Given the description of an element on the screen output the (x, y) to click on. 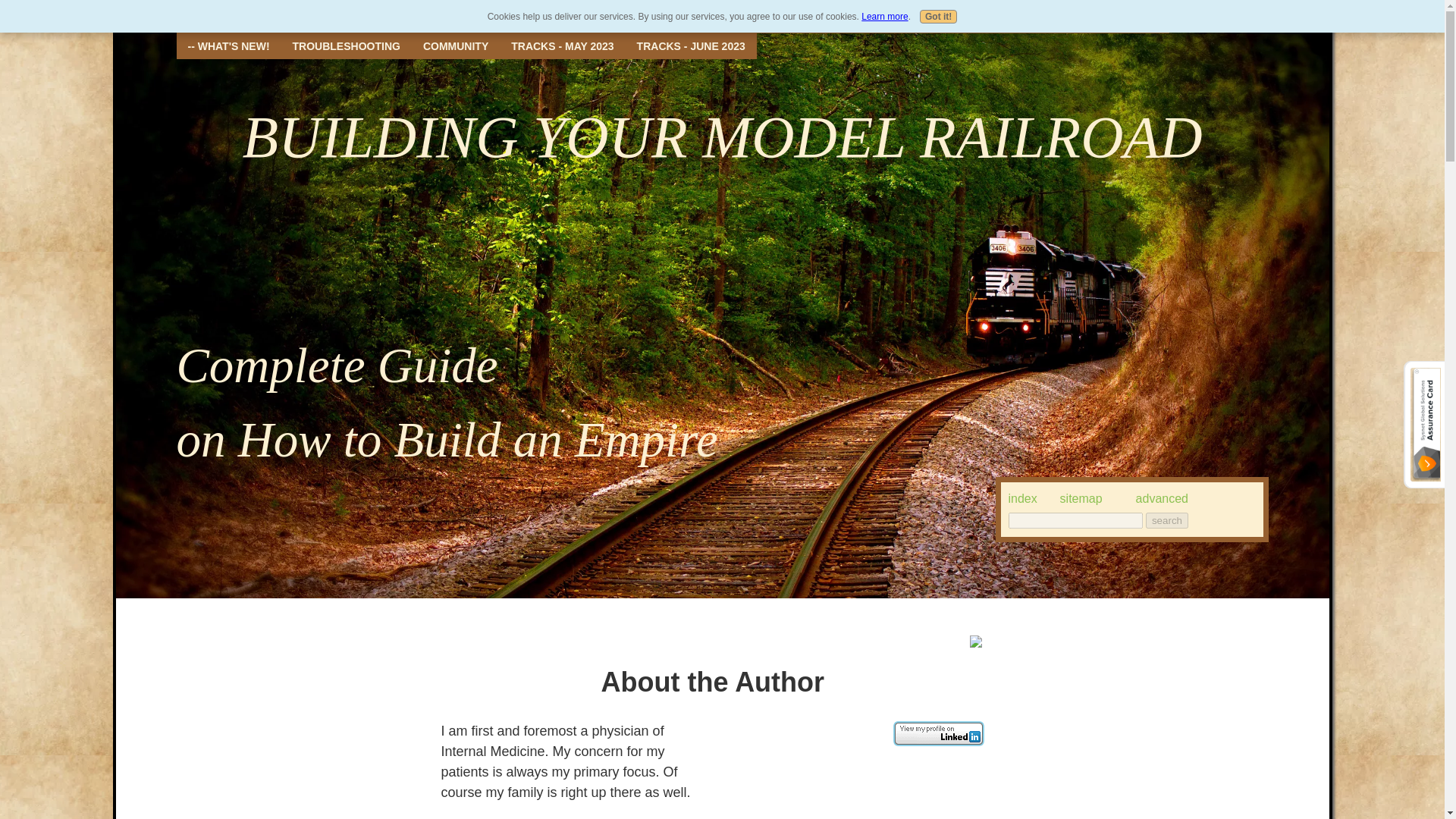
search (1166, 520)
BUILDING YOUR MODEL RAILROAD (721, 136)
